Given the description of an element on the screen output the (x, y) to click on. 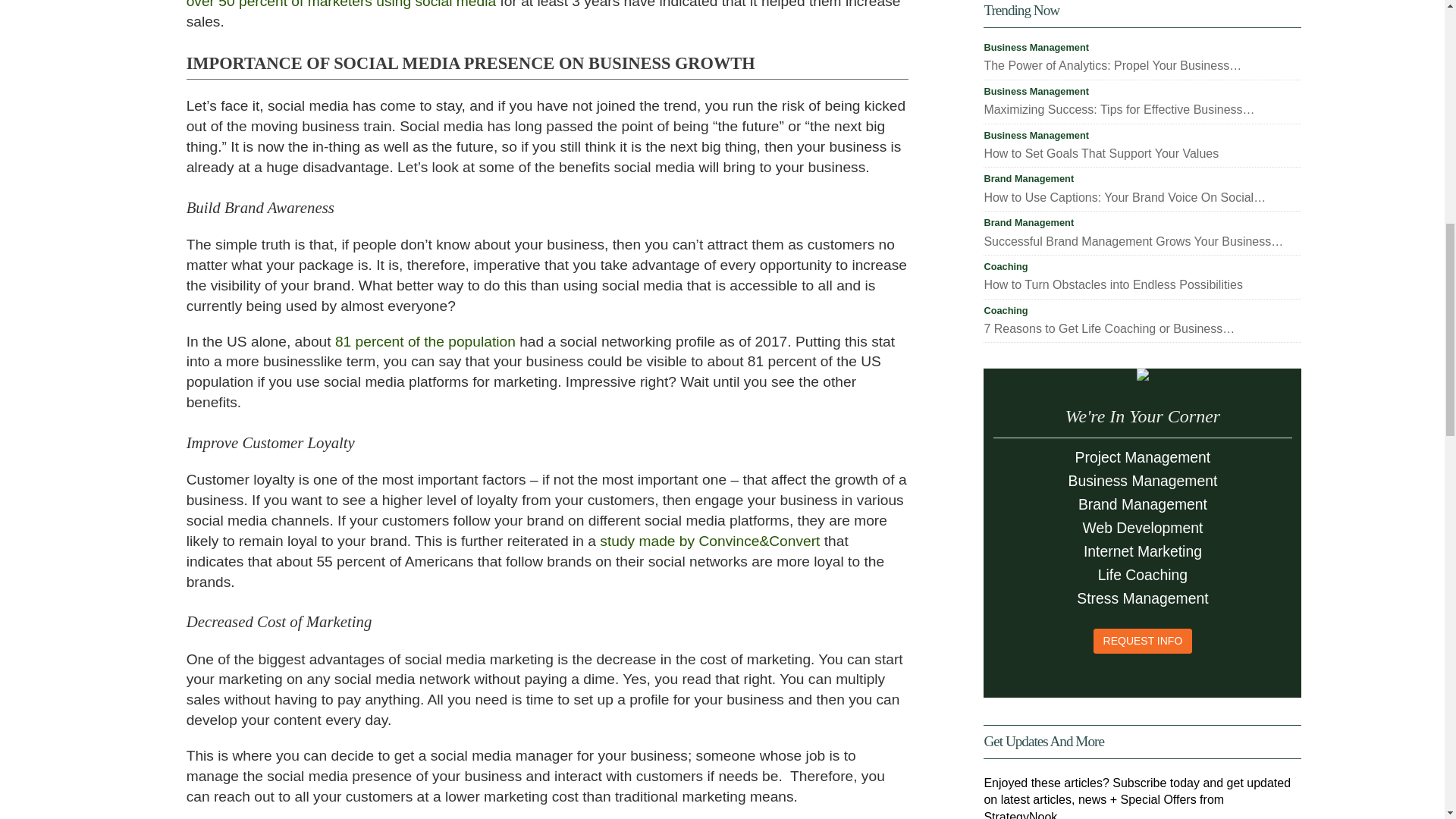
Business Management (1036, 47)
81 percent of the population (424, 341)
over 50 percent of marketers using social media (341, 4)
